Given the description of an element on the screen output the (x, y) to click on. 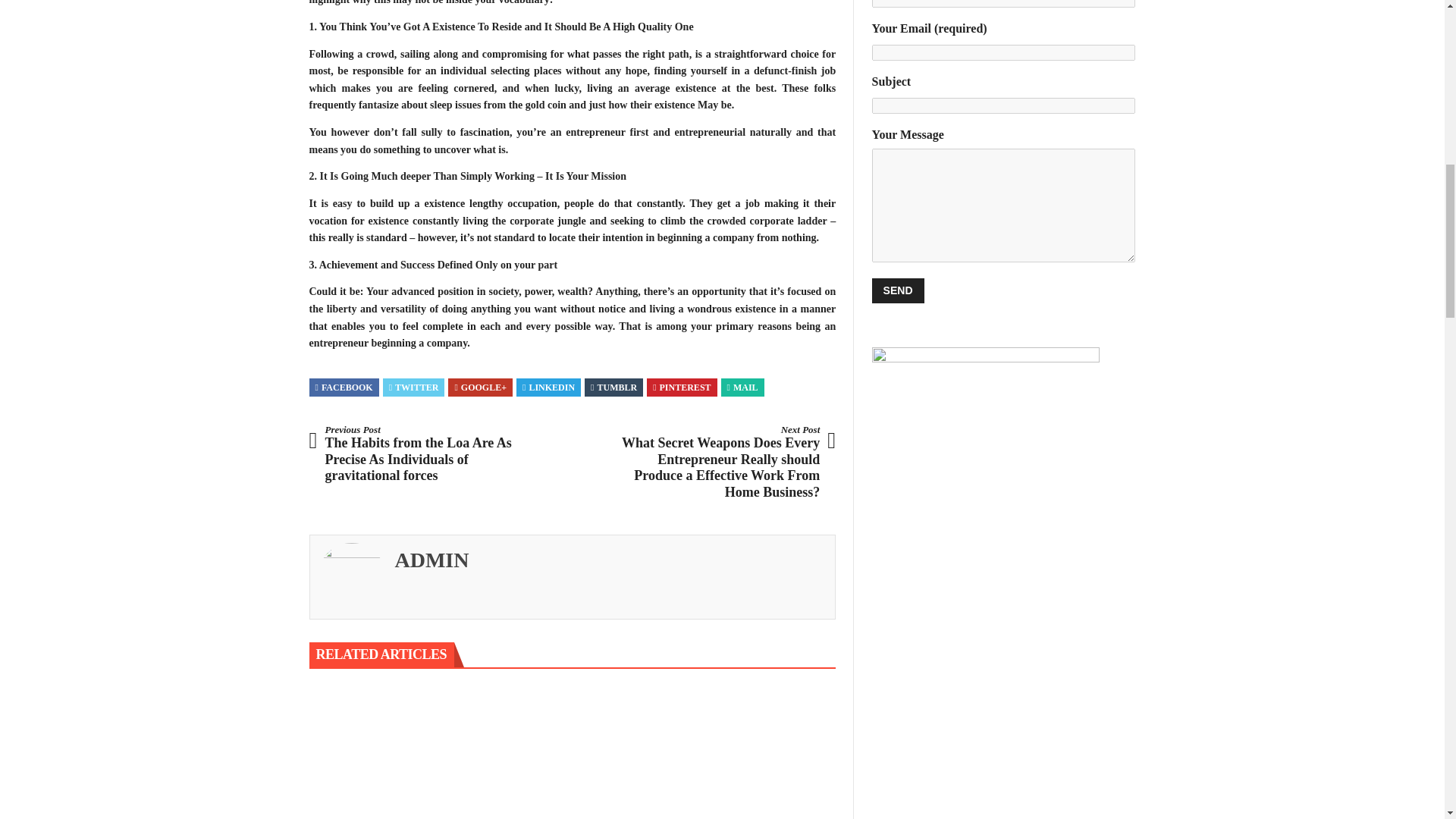
Facebook (343, 387)
LinkedIn (548, 387)
Pinterest (681, 387)
Twitter (413, 387)
Mail (742, 387)
Tumblr (614, 387)
Send (898, 290)
Google Plus (480, 387)
